Given the description of an element on the screen output the (x, y) to click on. 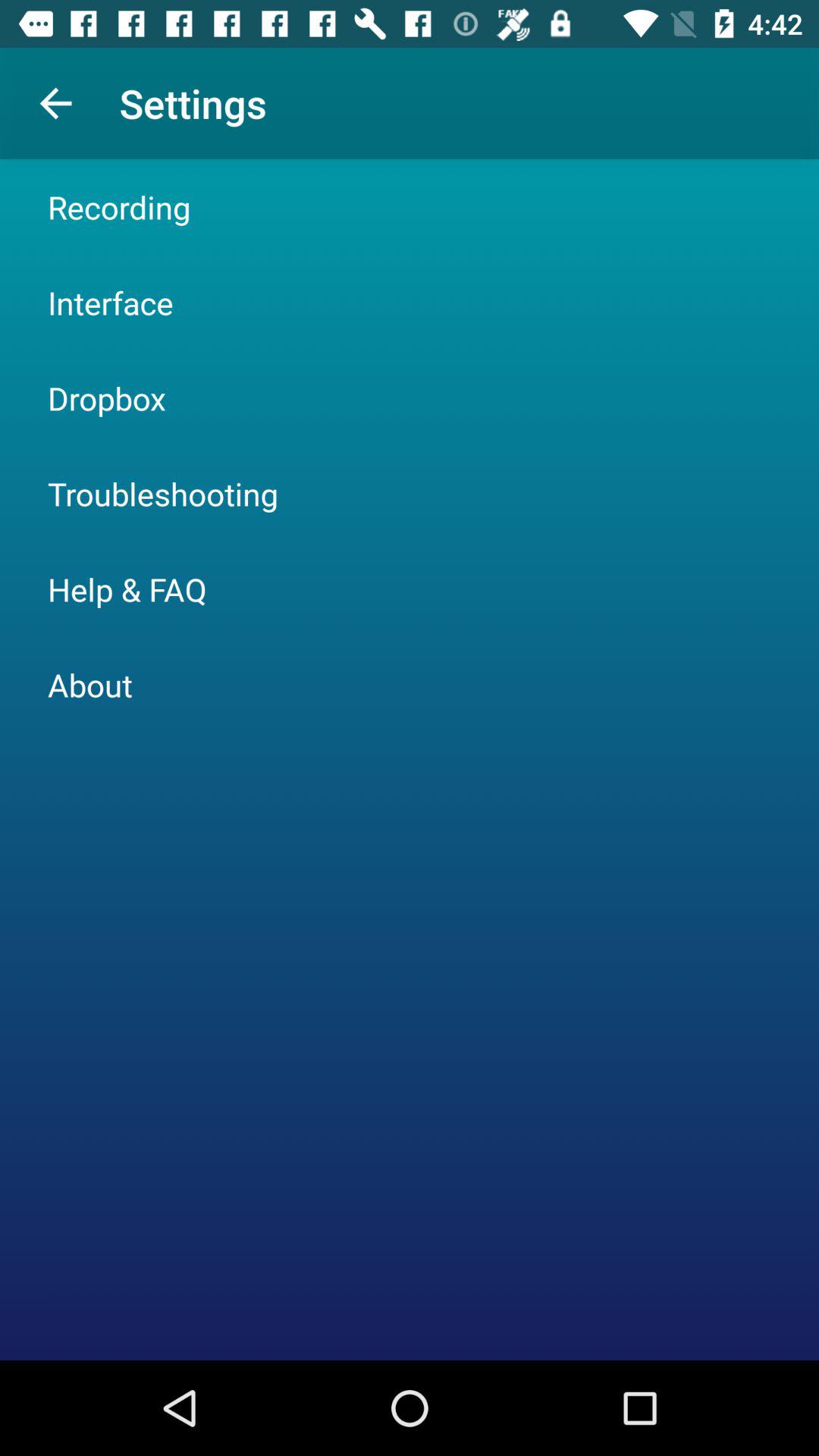
tap the recording icon (118, 206)
